Given the description of an element on the screen output the (x, y) to click on. 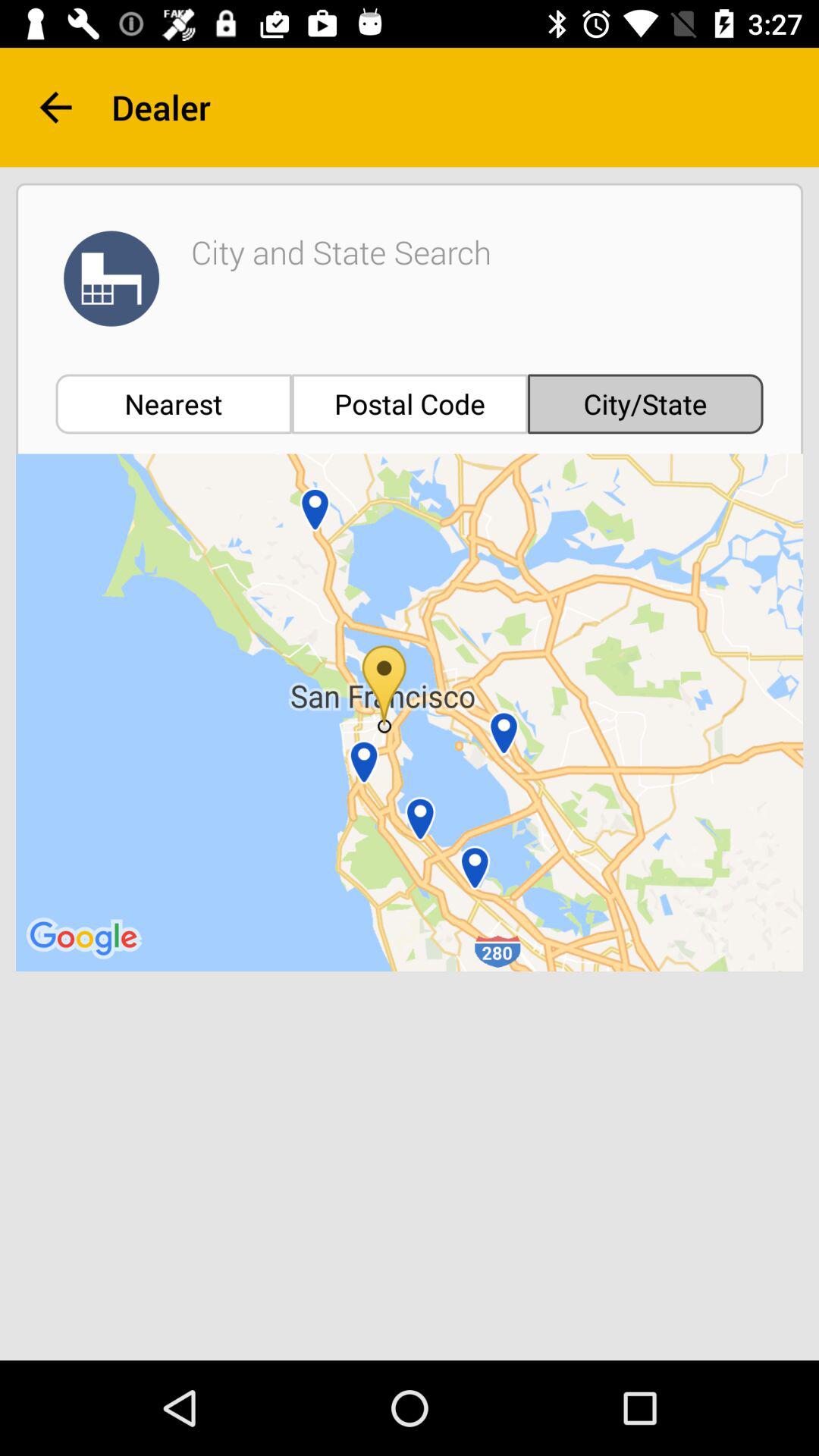
launch item next to city/state (409, 403)
